Given the description of an element on the screen output the (x, y) to click on. 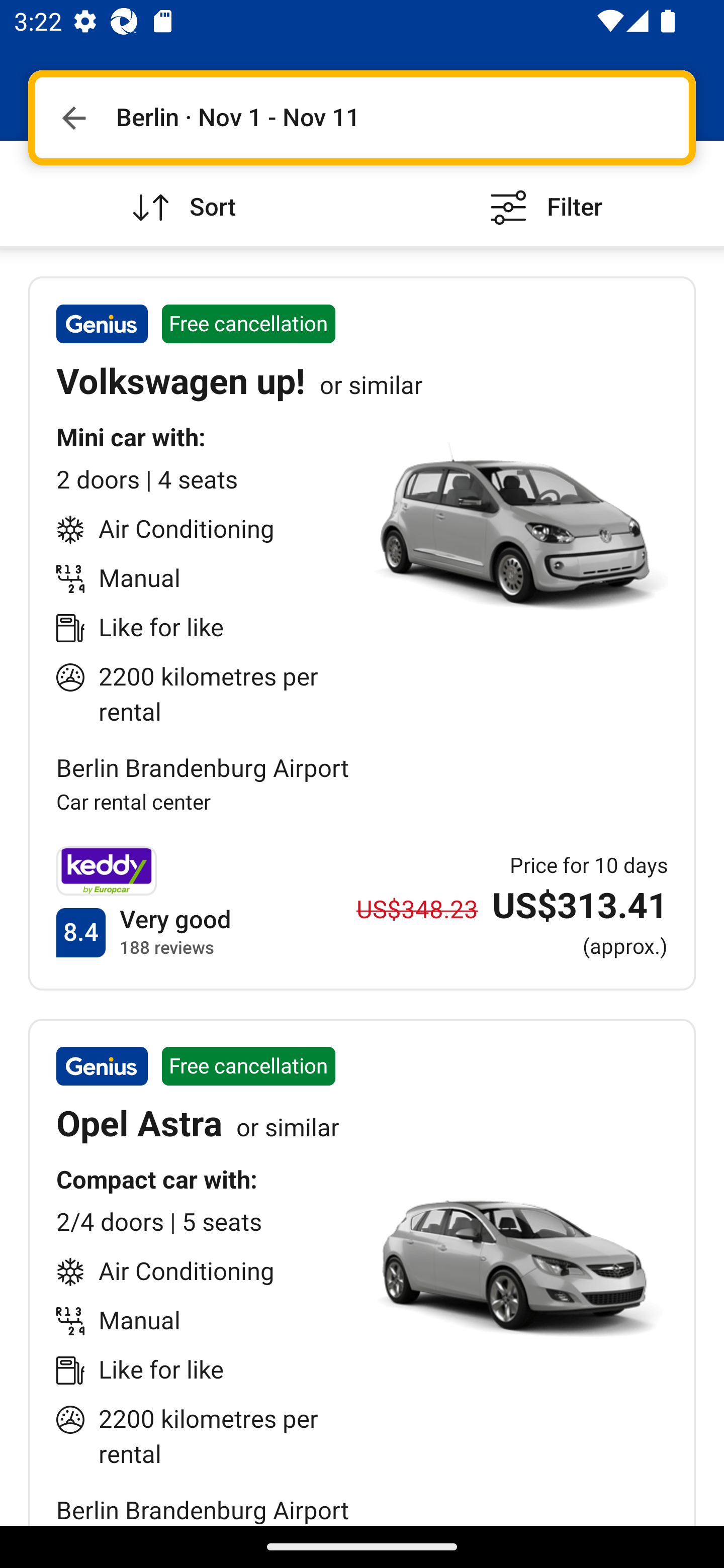
Back to previous screen (73, 117)
Sort (181, 193)
Filter (543, 193)
